Given the description of an element on the screen output the (x, y) to click on. 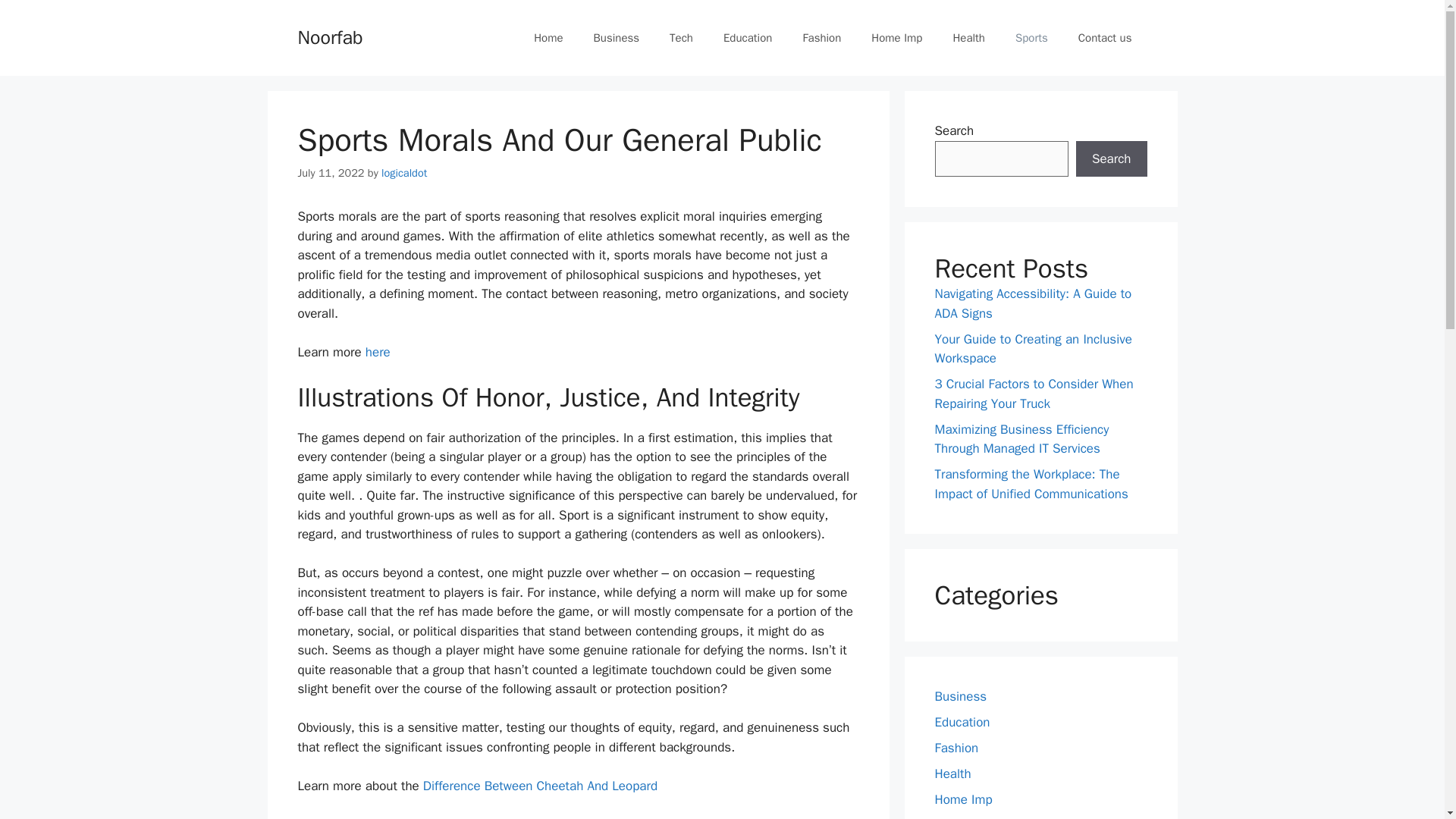
Noorfab (329, 37)
Health (952, 773)
Education (747, 37)
Home (548, 37)
Education (962, 722)
Search (1111, 158)
Your Guide to Creating an Inclusive Workspace (1032, 348)
Contact us (1104, 37)
Health (968, 37)
Business (960, 696)
